Given the description of an element on the screen output the (x, y) to click on. 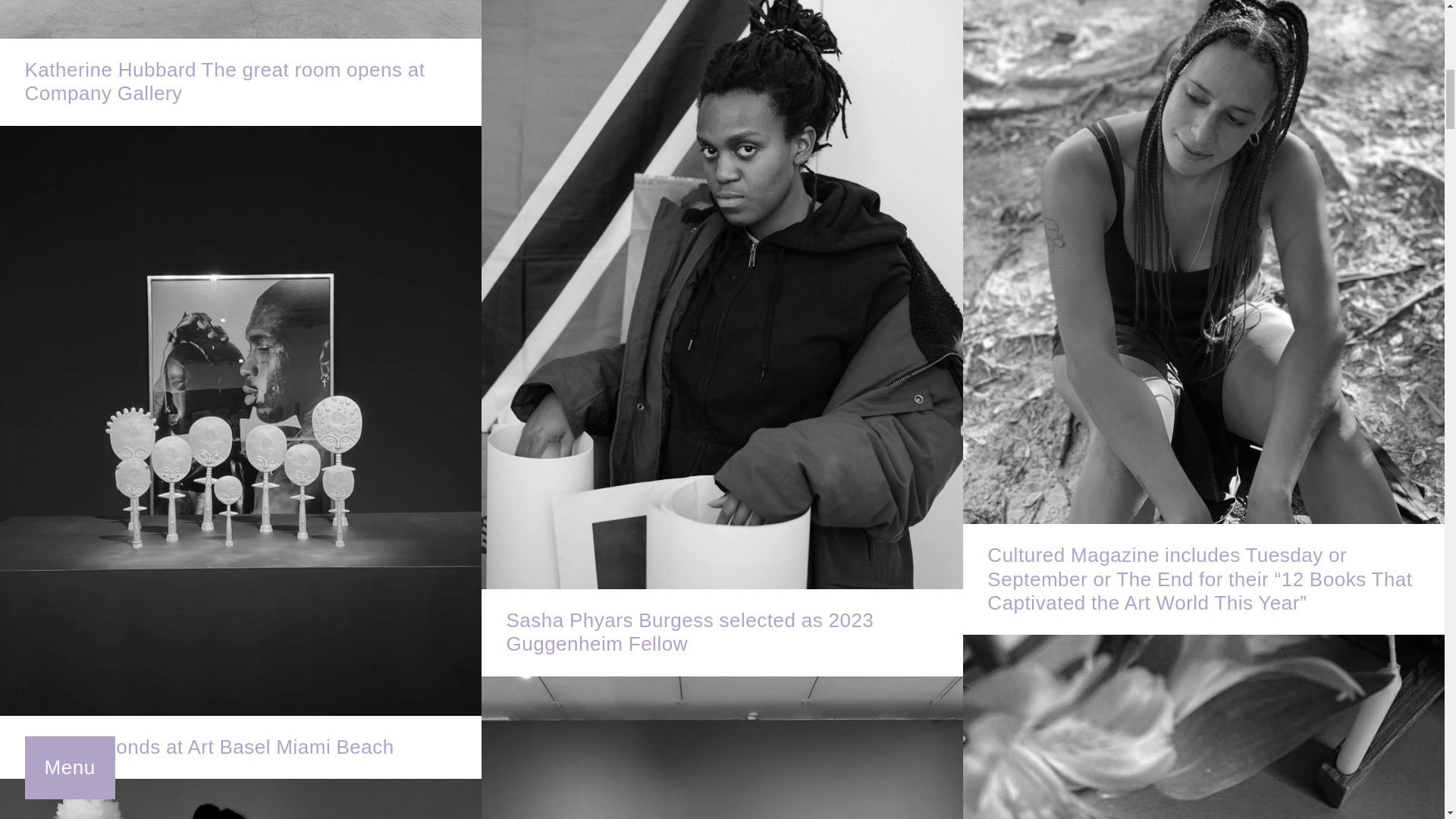
FRIEZE reviews Tuesday or September of The End (240, 798)
Jonathan Lyndon Chase, FOG at Company Gallery (721, 747)
Katherine Hubbard The great room opens at Company Gallery (240, 62)
